Given the description of an element on the screen output the (x, y) to click on. 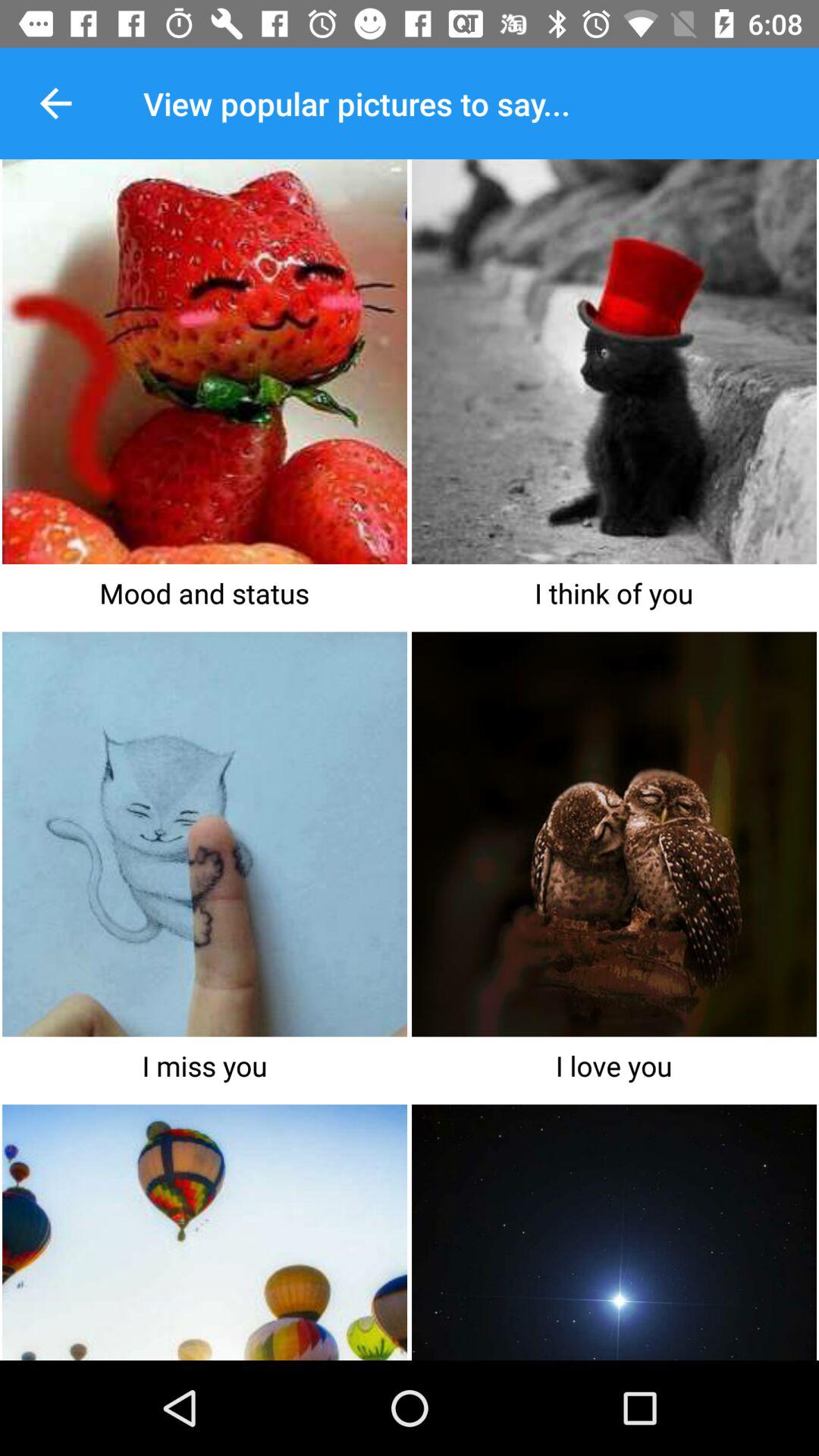
turn on item next to view popular pictures icon (55, 103)
